Given the description of an element on the screen output the (x, y) to click on. 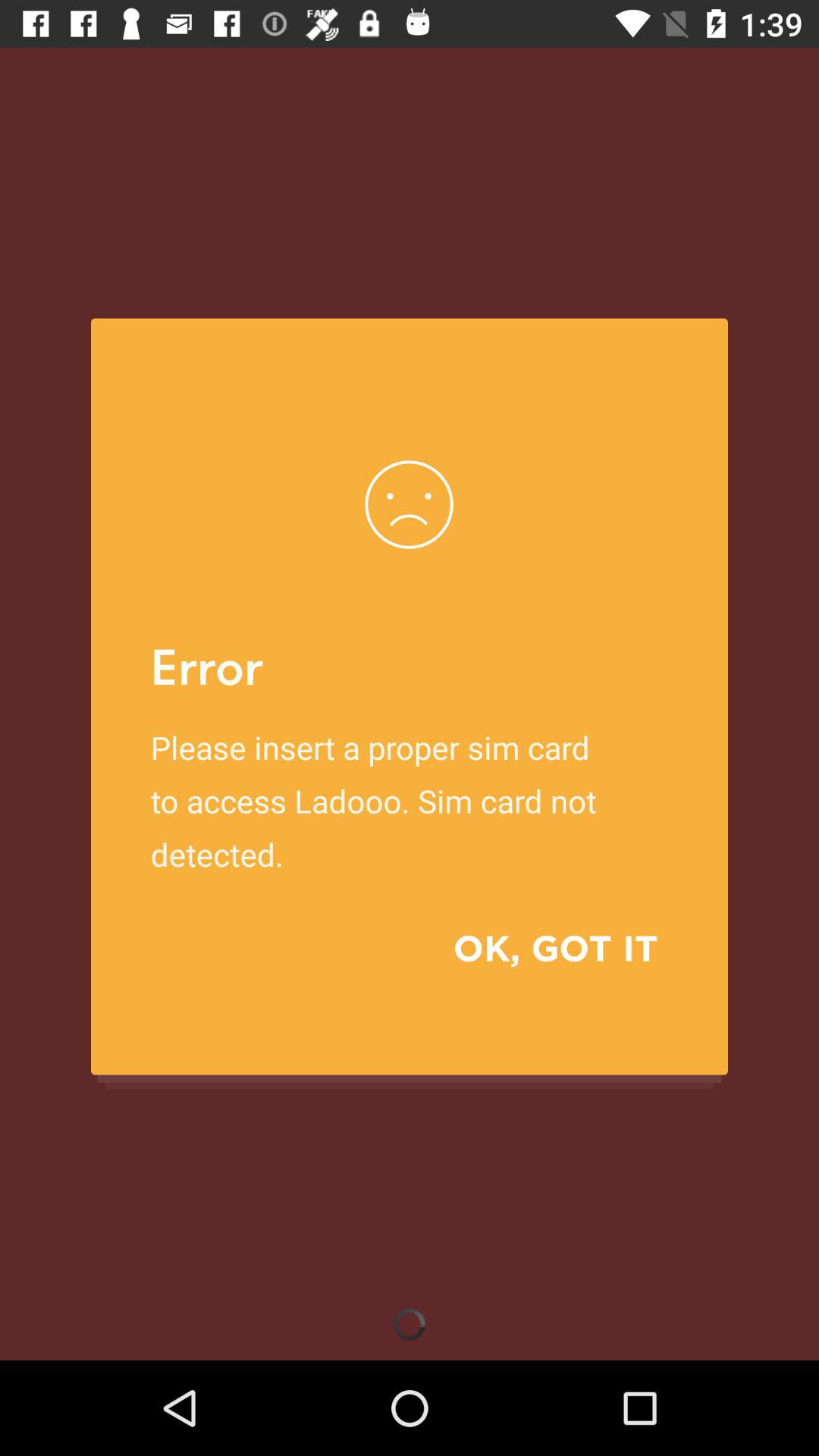
swipe until the ok, got it (533, 947)
